Given the description of an element on the screen output the (x, y) to click on. 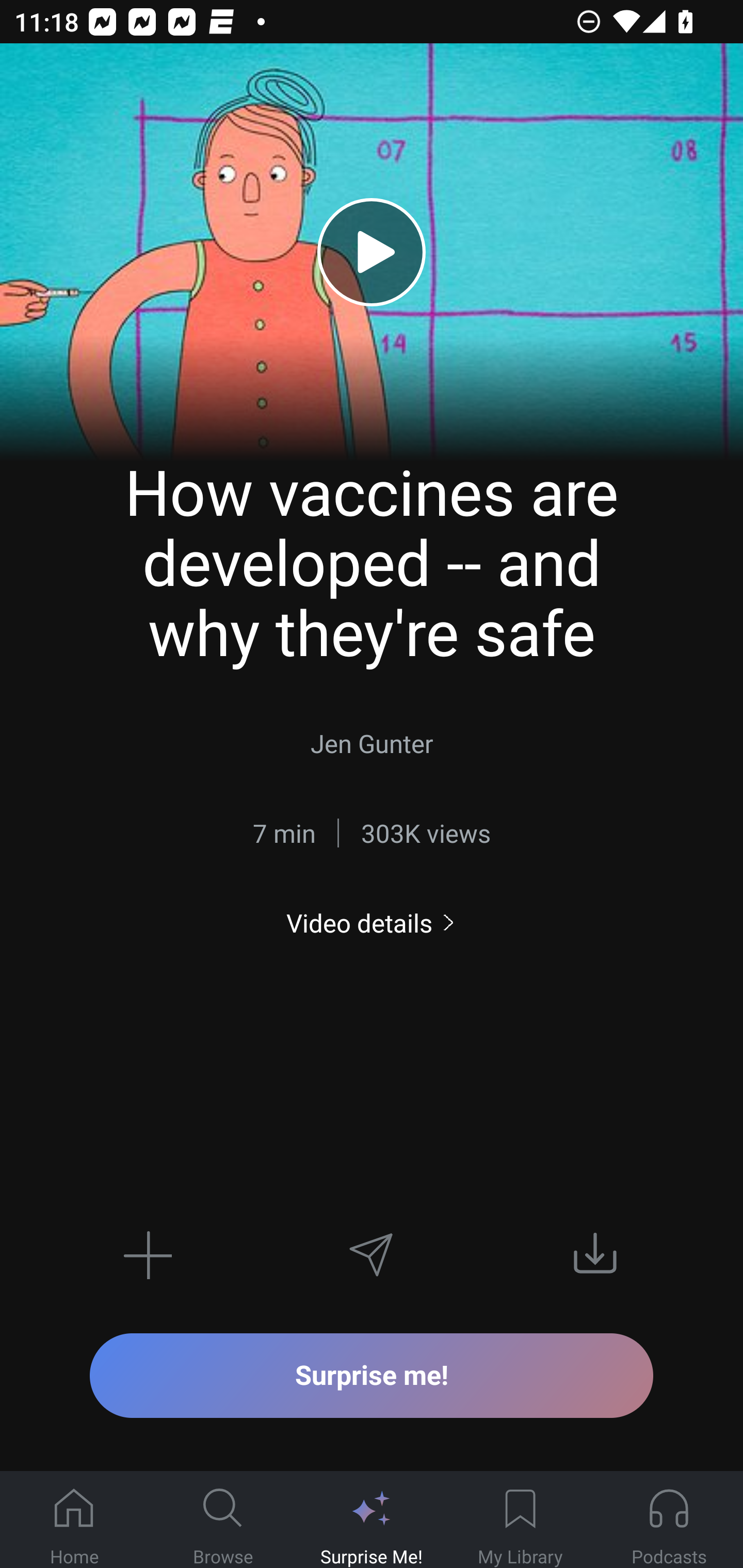
Video details (371, 922)
Surprise me! (371, 1374)
Home (74, 1520)
Browse (222, 1520)
Surprise Me! (371, 1520)
My Library (519, 1520)
Podcasts (668, 1520)
